Given the description of an element on the screen output the (x, y) to click on. 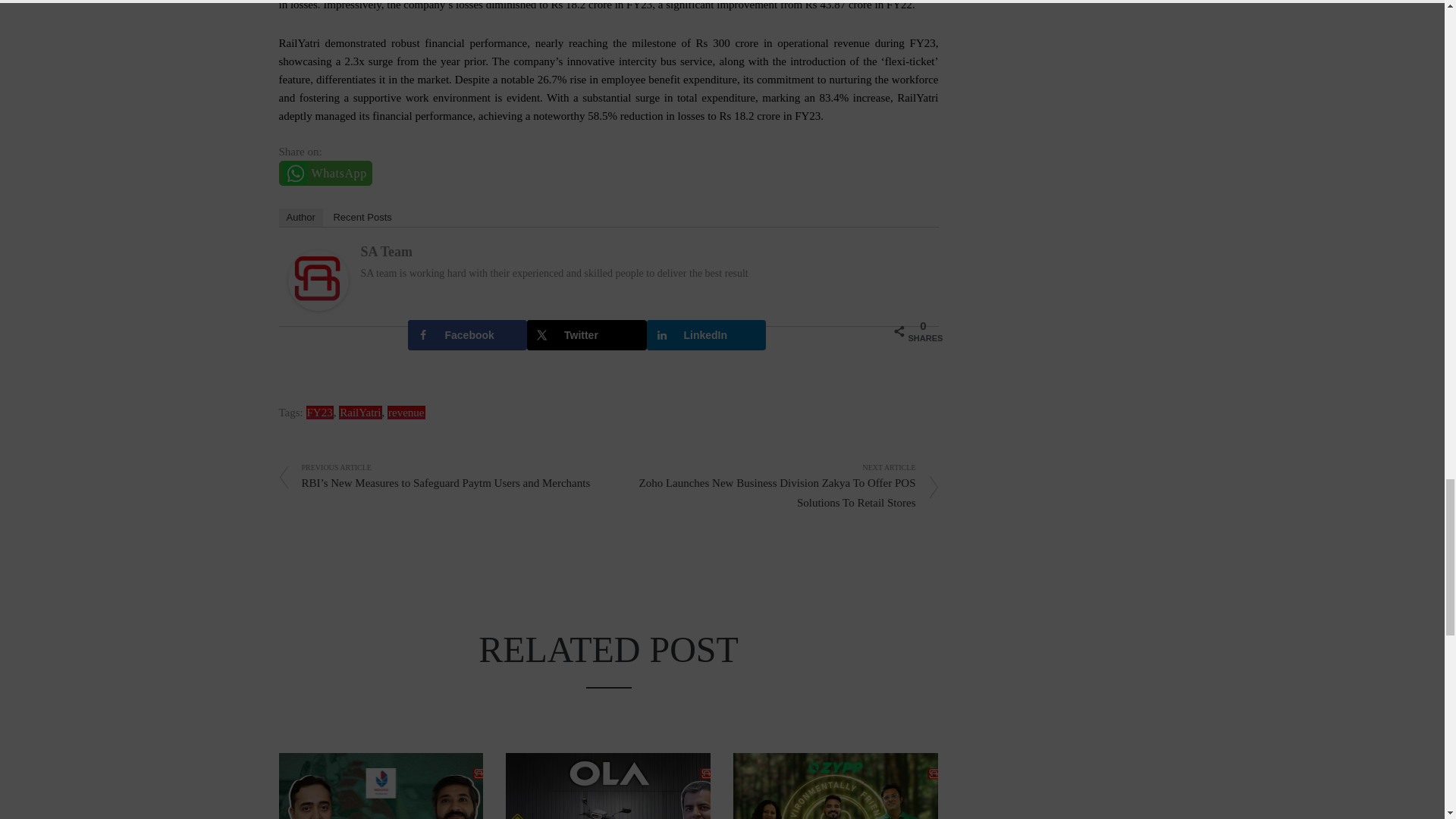
Share on LinkedIn (705, 335)
SA Team (318, 279)
Share on Facebook (467, 335)
Share on X (586, 335)
